Given the description of an element on the screen output the (x, y) to click on. 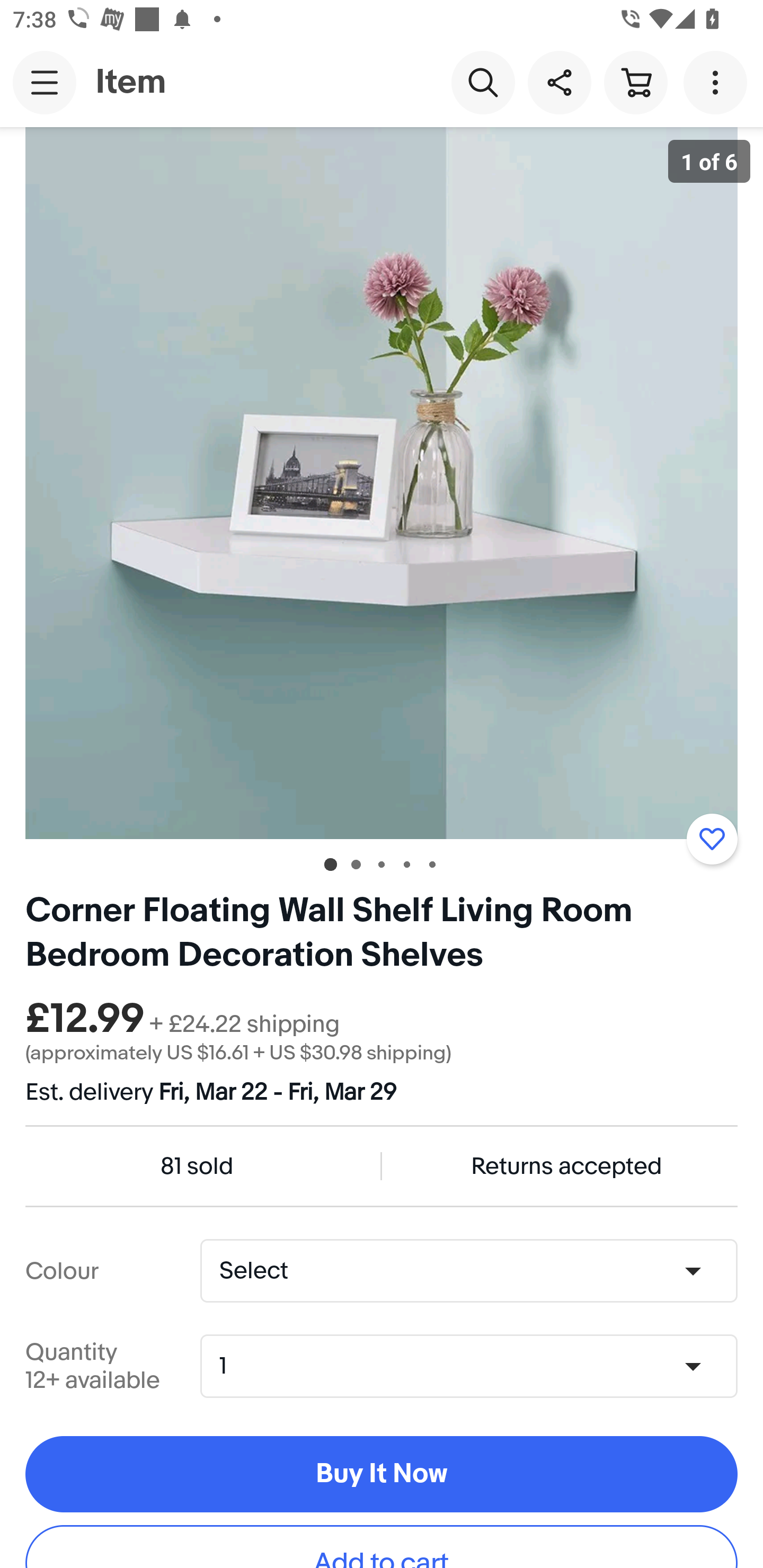
Main navigation, open (44, 82)
Search (482, 81)
Share this item (559, 81)
Cart button shopping cart (635, 81)
More options (718, 81)
Item image 1 of 6 (381, 482)
Add to watchlist (711, 838)
Colour,No selection Select (468, 1270)
Quantity,1,12+ available 1 (474, 1365)
Buy It Now (381, 1474)
